Given the description of an element on the screen output the (x, y) to click on. 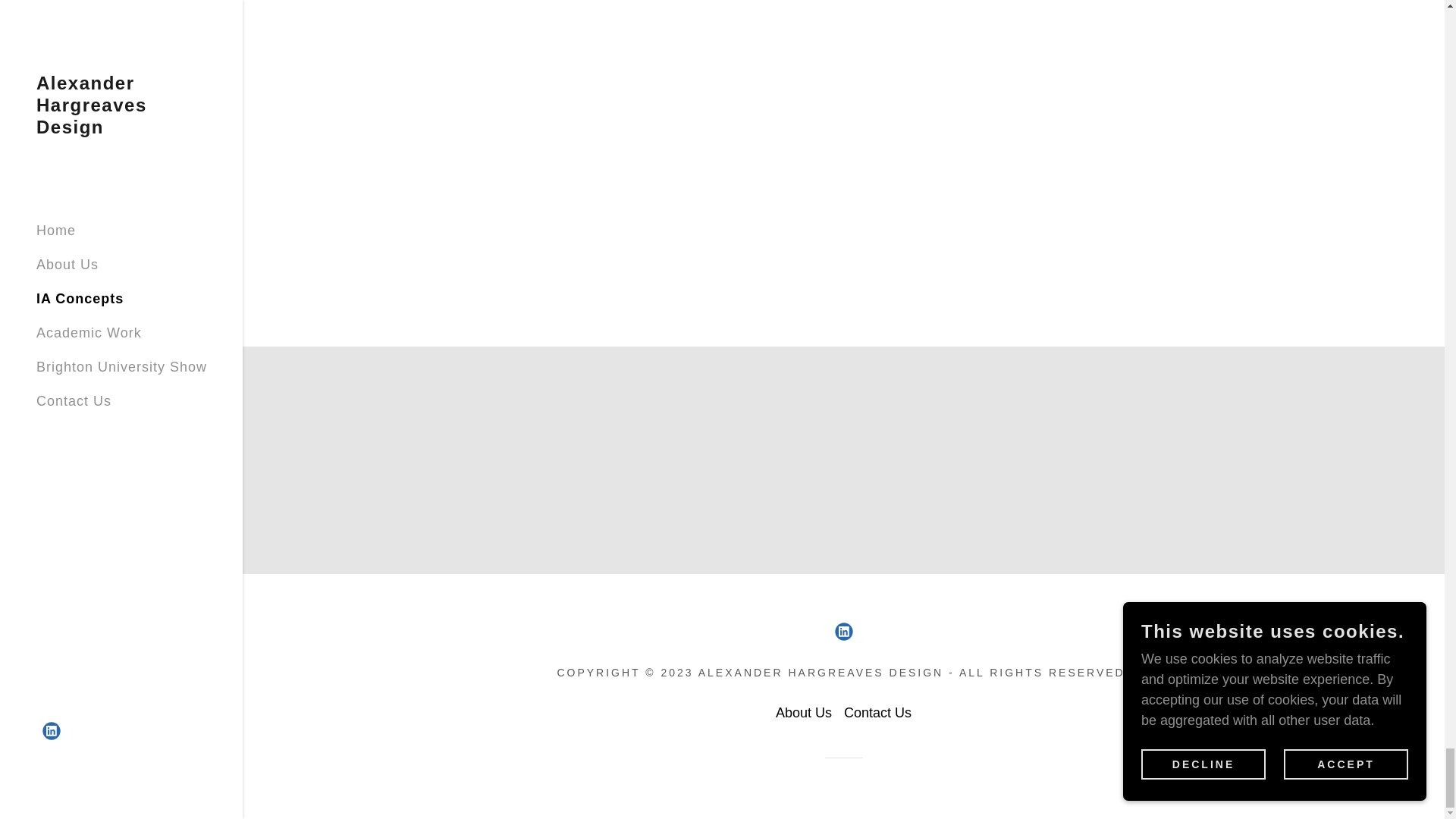
About Us (804, 713)
Contact Us (877, 713)
